Given the description of an element on the screen output the (x, y) to click on. 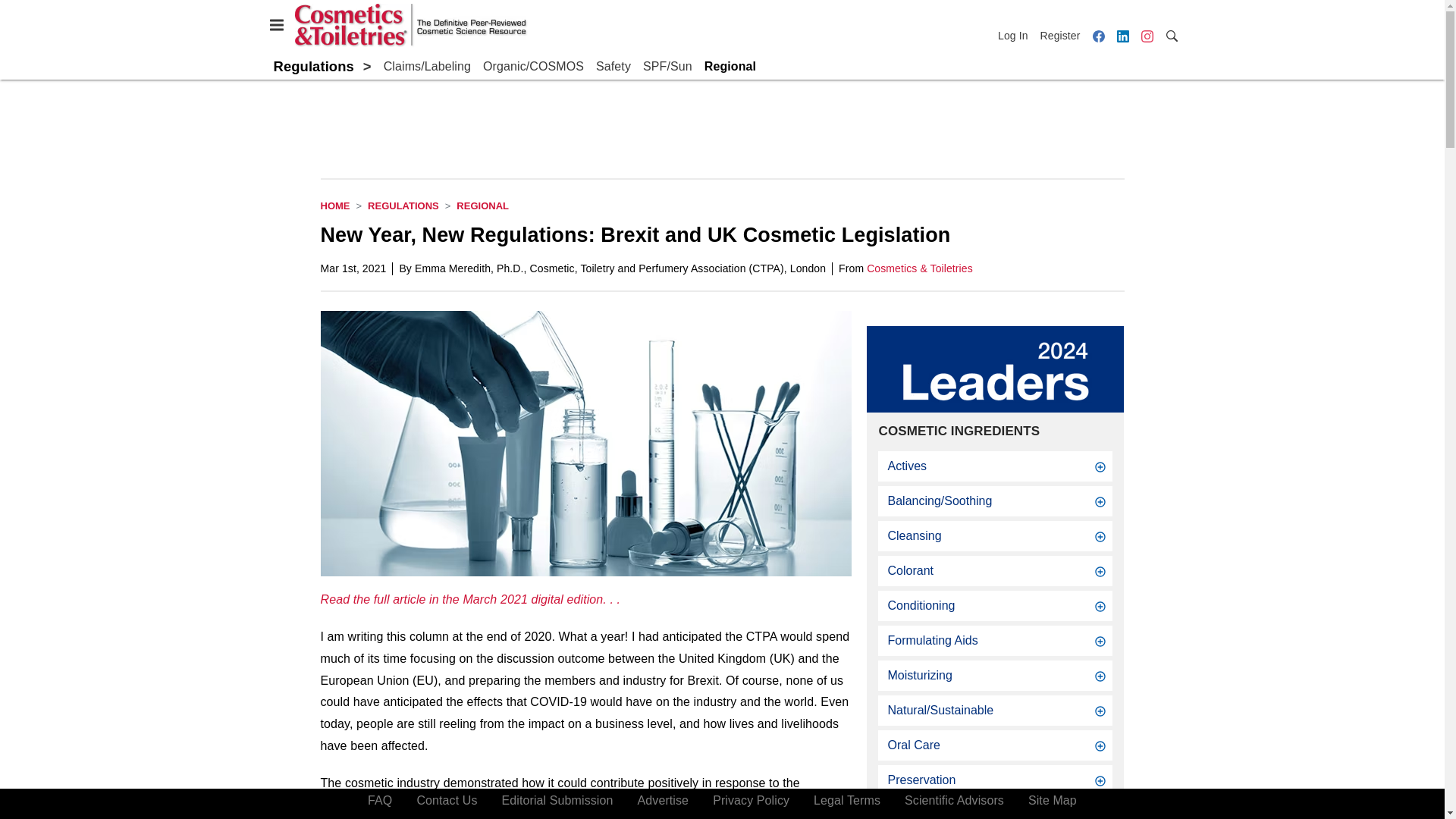
Regional (482, 205)
Facebook icon (1097, 35)
Facebook icon (1097, 36)
Regional (729, 66)
Regulations (313, 65)
Home (334, 205)
Instagram icon (1146, 35)
LinkedIn icon (1121, 35)
Instagram icon (1146, 36)
Register (1059, 35)
